Given the description of an element on the screen output the (x, y) to click on. 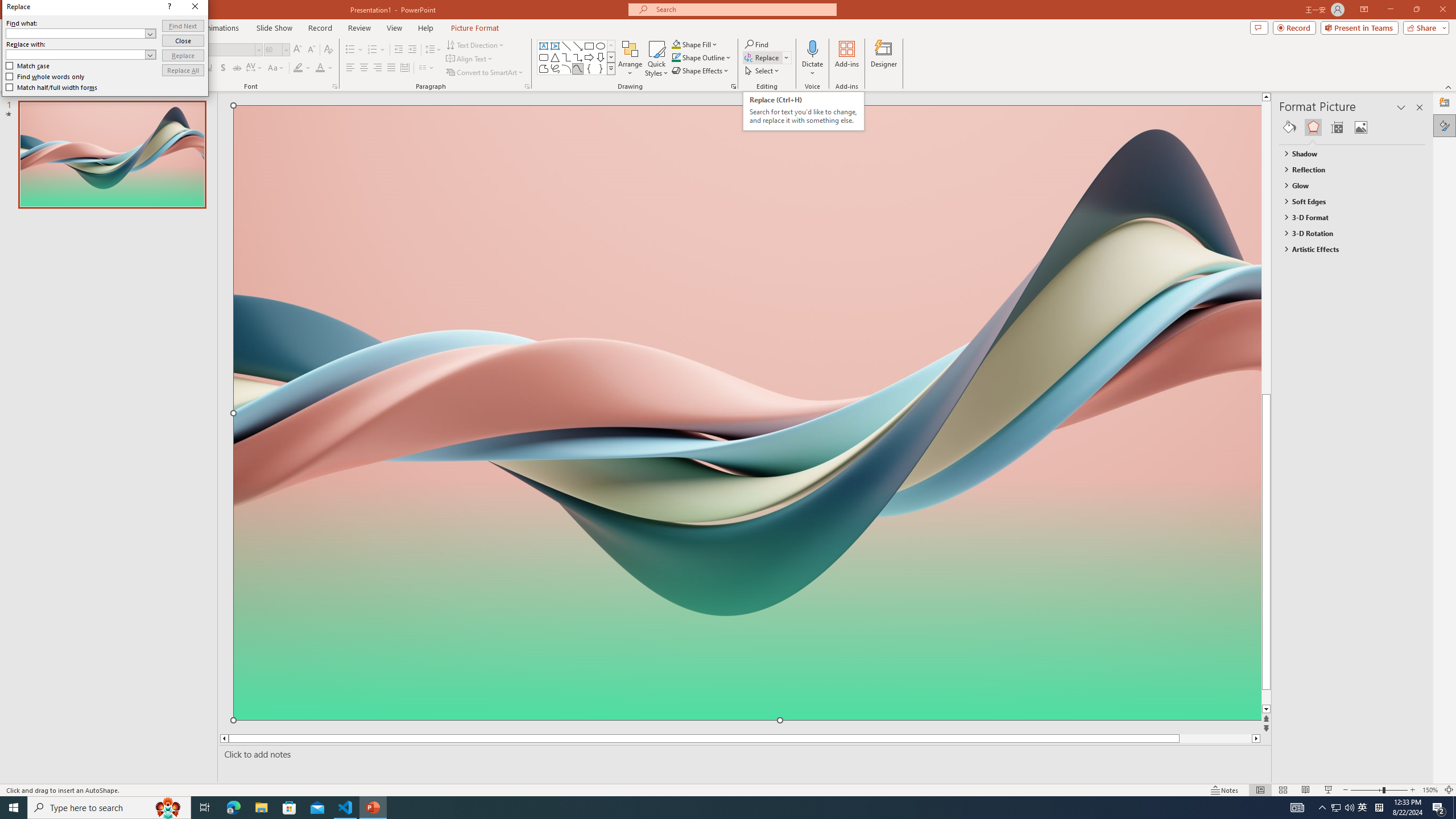
Rectangle (589, 45)
Arrow: Down (600, 57)
Start (13, 807)
Shape Fill (694, 44)
Font... (334, 85)
Comments (1259, 27)
Columns (426, 67)
Line (566, 45)
Replace (183, 55)
Increase Font Size (297, 49)
Class: NetUIImage (610, 68)
PowerPoint - 1 running window (373, 807)
Right Brace (600, 68)
Arrow: Right (589, 57)
